Given the description of an element on the screen output the (x, y) to click on. 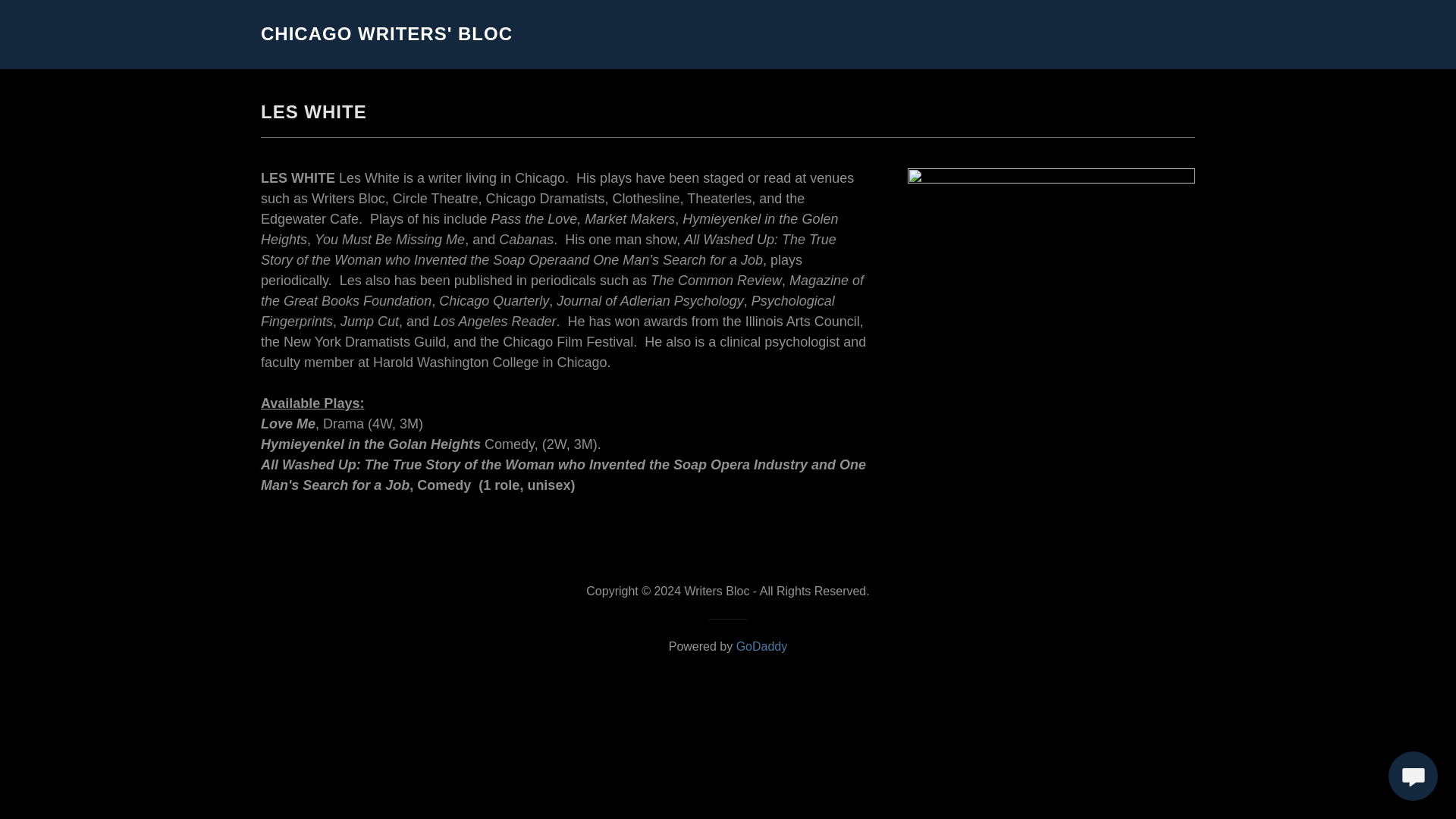
CHICAGO WRITERS' BLOC (386, 35)
GoDaddy (761, 645)
Chicago Writers' Bloc (386, 35)
